Given the description of an element on the screen output the (x, y) to click on. 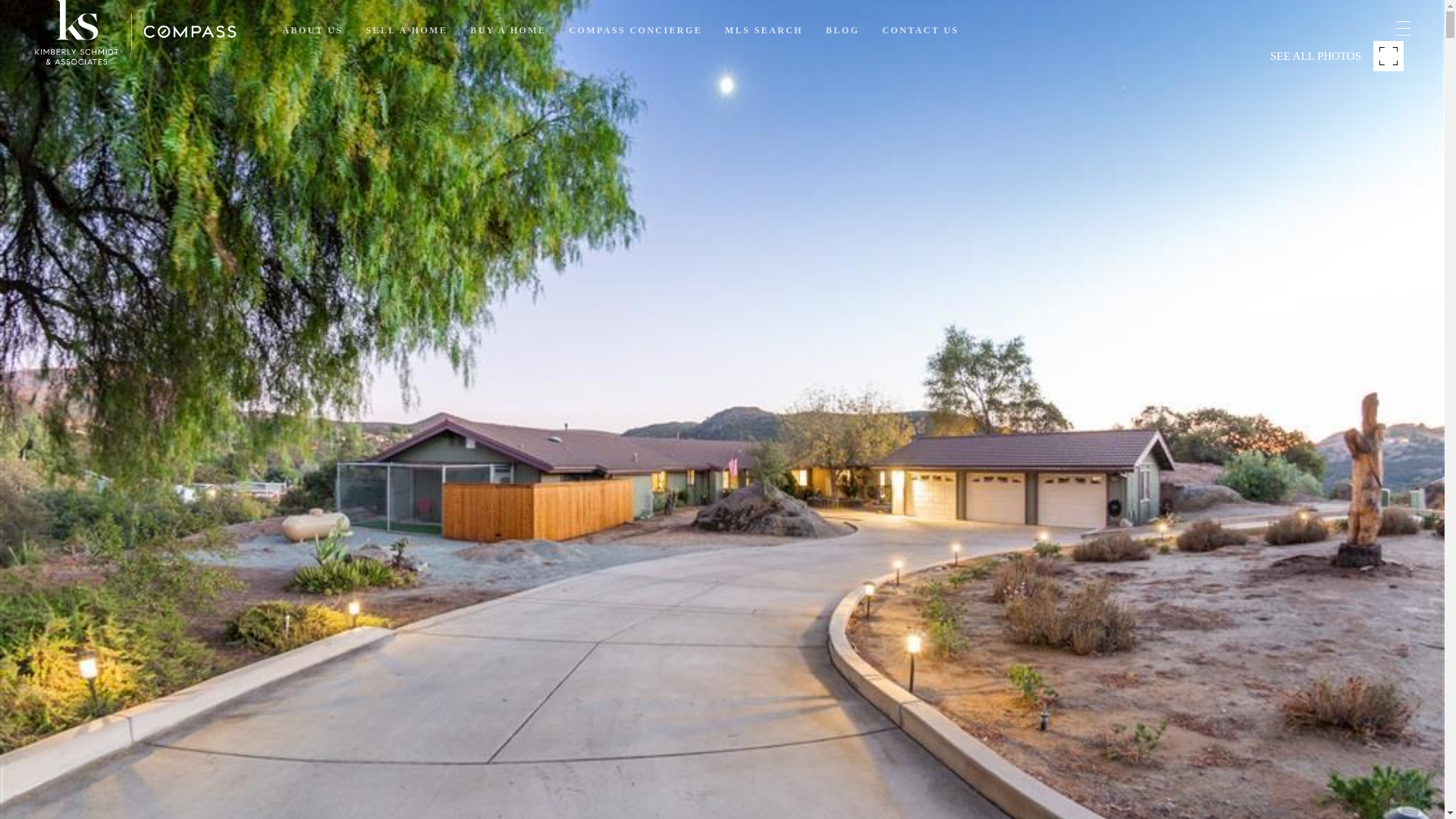
ABOUT US (312, 30)
BLOG (842, 30)
BUY A HOME (508, 30)
SELL A HOME (405, 30)
MLS SEARCH (764, 30)
COMPASS CONCIERGE (635, 30)
CONTACT US (920, 30)
